Given the description of an element on the screen output the (x, y) to click on. 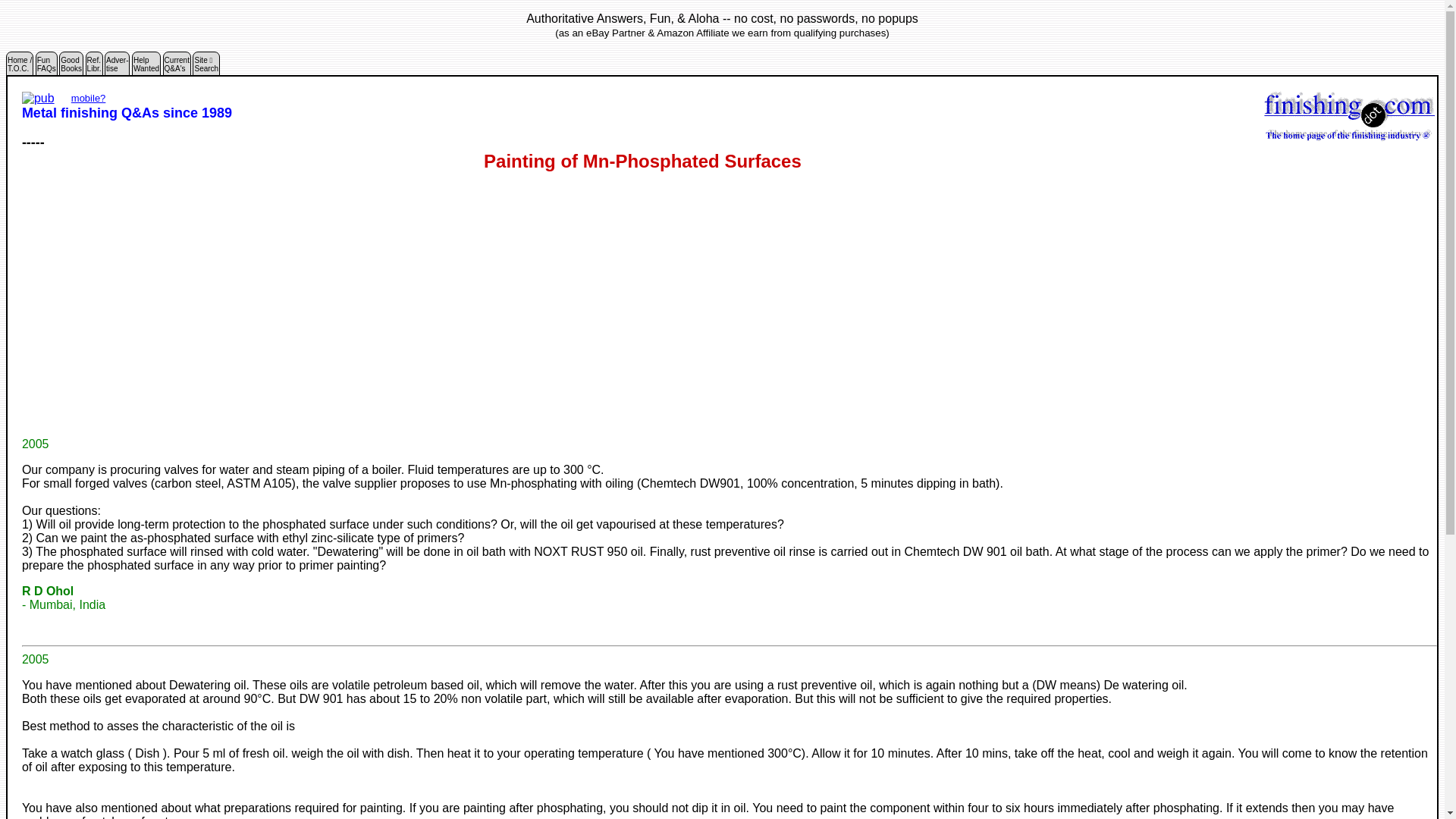
Search the site (146, 66)
Frequently asked questions about Metal Finishing (205, 66)
The finishing.com Hotline public forum (46, 66)
Recommended metal finishing books (176, 66)
mobile? (46, 66)
On-line library of metal finishing articles (116, 66)
Advertise on the world's premier metal finishing site (70, 66)
